Given the description of an element on the screen output the (x, y) to click on. 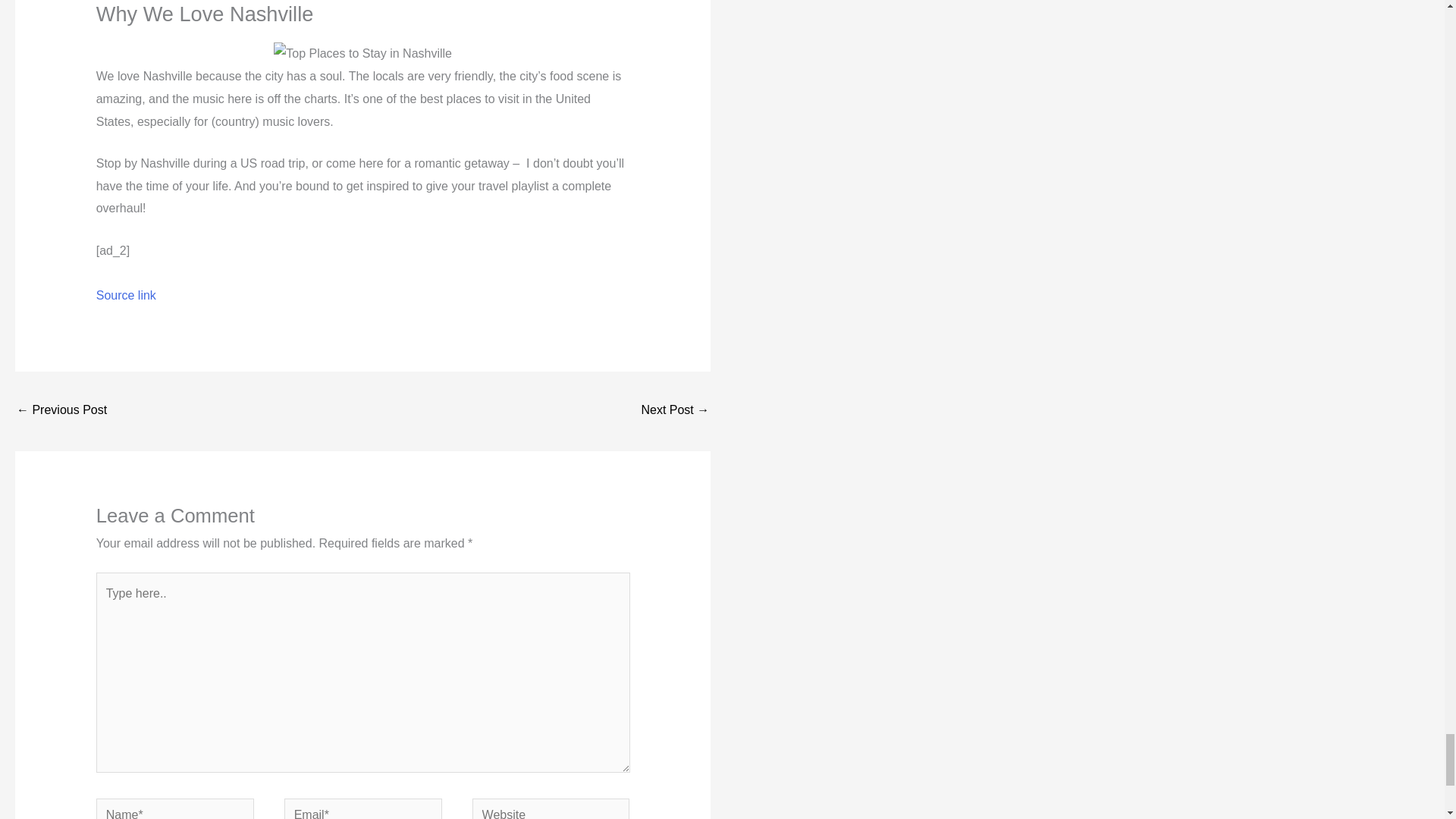
21 Best Things to Do in Quito, Ecuador In 2024 (61, 411)
